Given the description of an element on the screen output the (x, y) to click on. 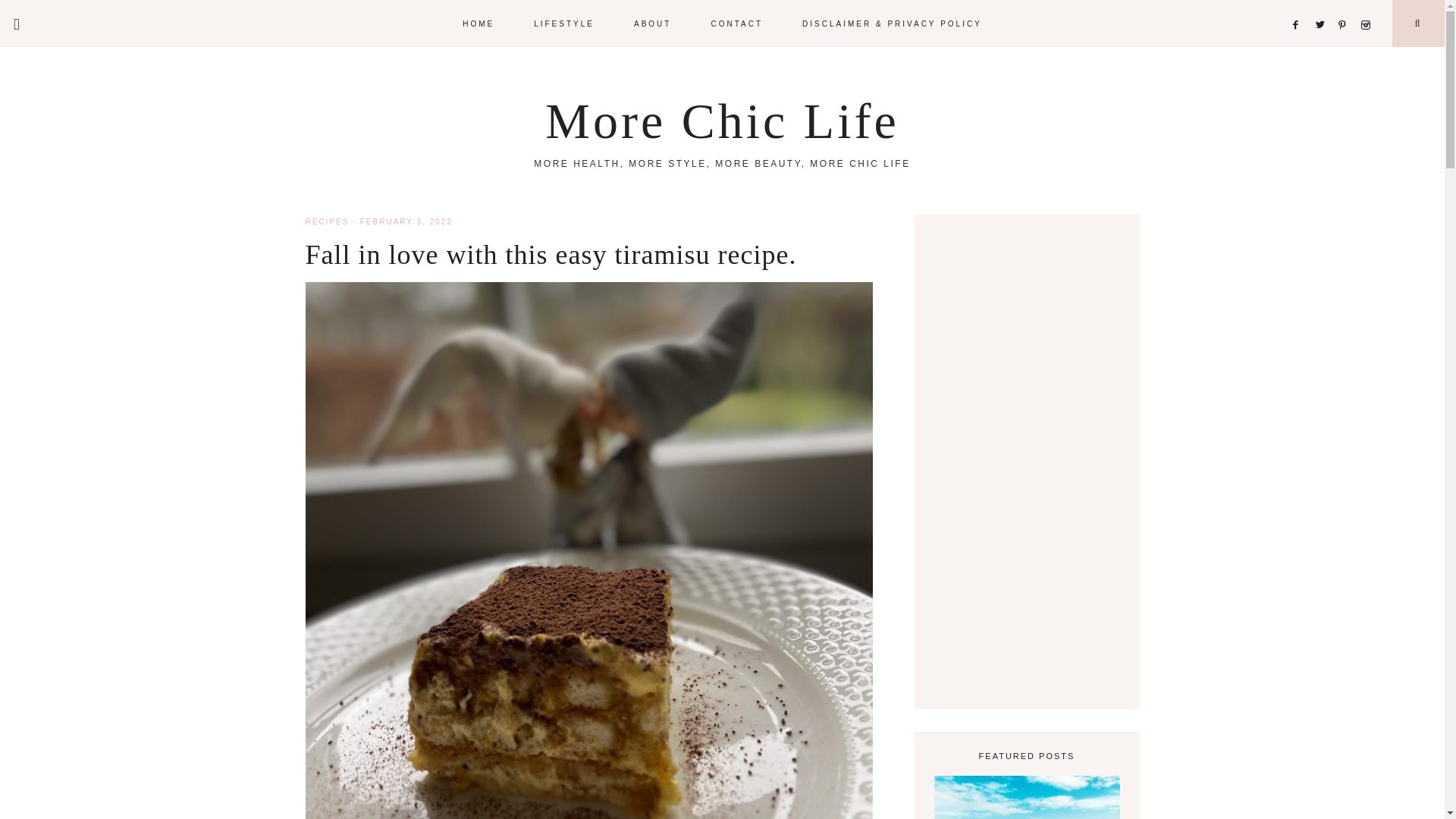
LIFESTYLE (563, 22)
RECIPES (326, 221)
ABOUT (652, 22)
Pinterest (1345, 6)
Twitter (1323, 6)
Facebook (1299, 6)
HOME (477, 22)
Instagram (1367, 6)
CONTACT (736, 22)
More Chic Life (721, 120)
